Given the description of an element on the screen output the (x, y) to click on. 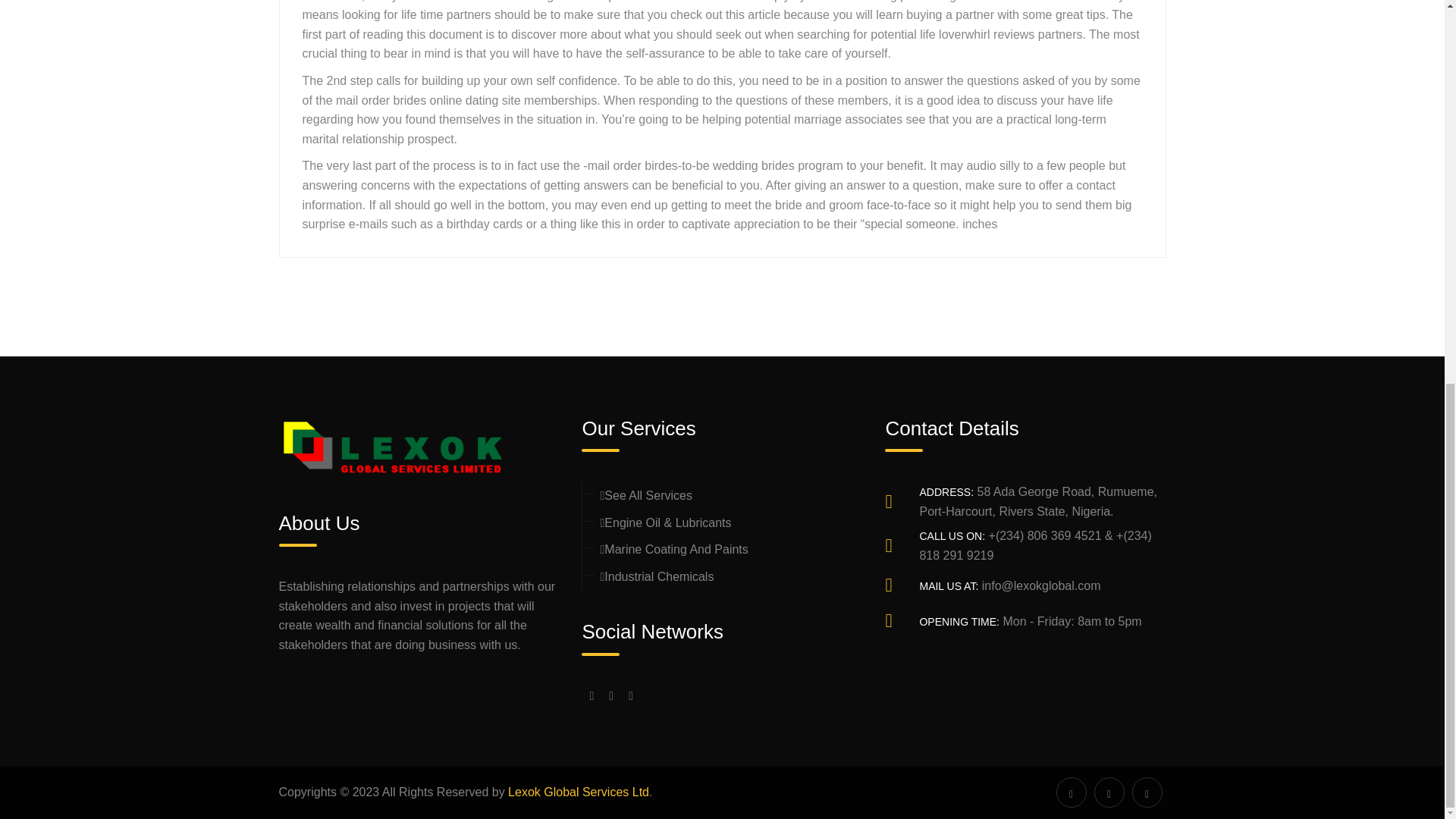
Facebook (590, 695)
Lexok Global Services Ltd (578, 791)
Marine Coating And Paints (673, 549)
Twitter (611, 695)
Industrial Chemicals (656, 576)
loverwhirl reviews (986, 33)
See All Services (645, 495)
